Given the description of an element on the screen output the (x, y) to click on. 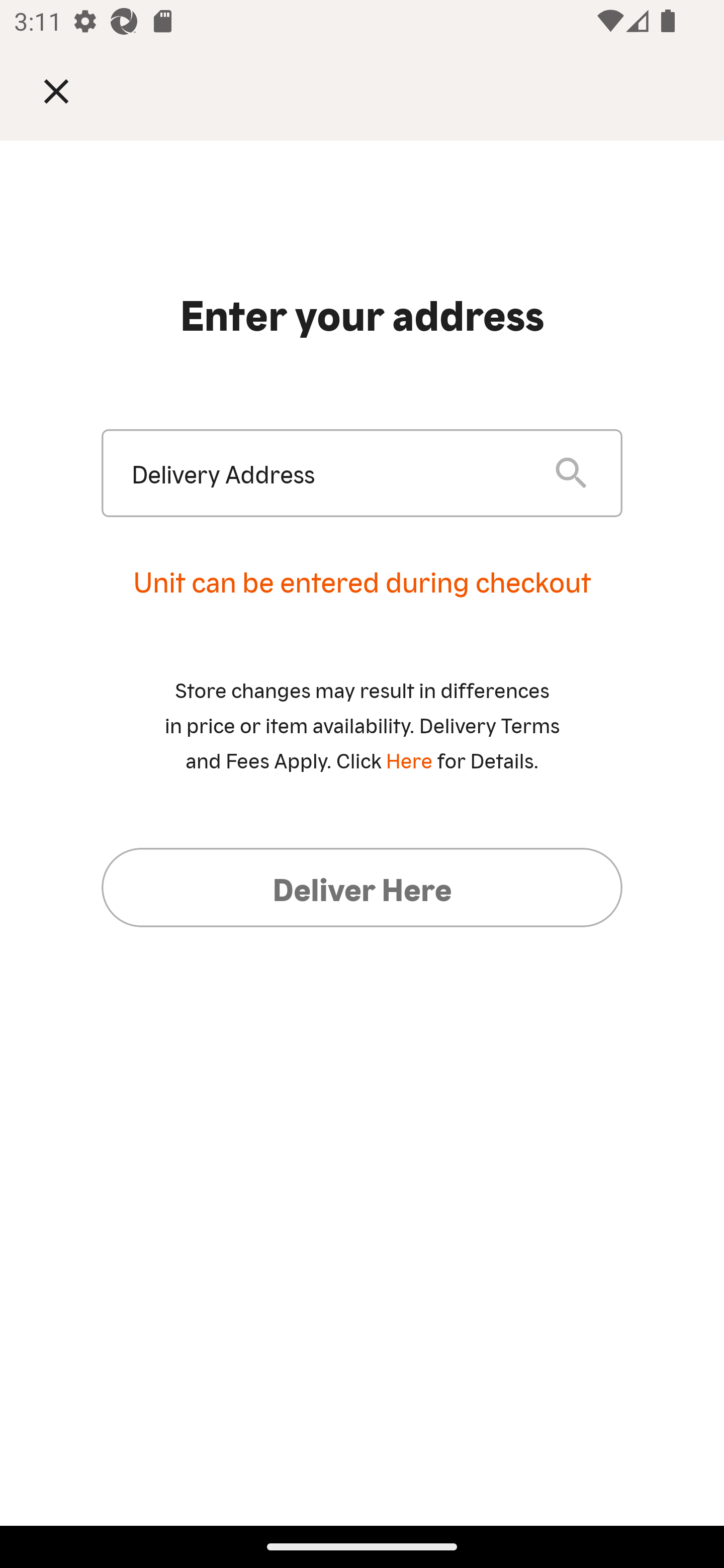
 (70, 90)
Delivery Address (326, 473)
Deliver Here (361, 887)
